Given the description of an element on the screen output the (x, y) to click on. 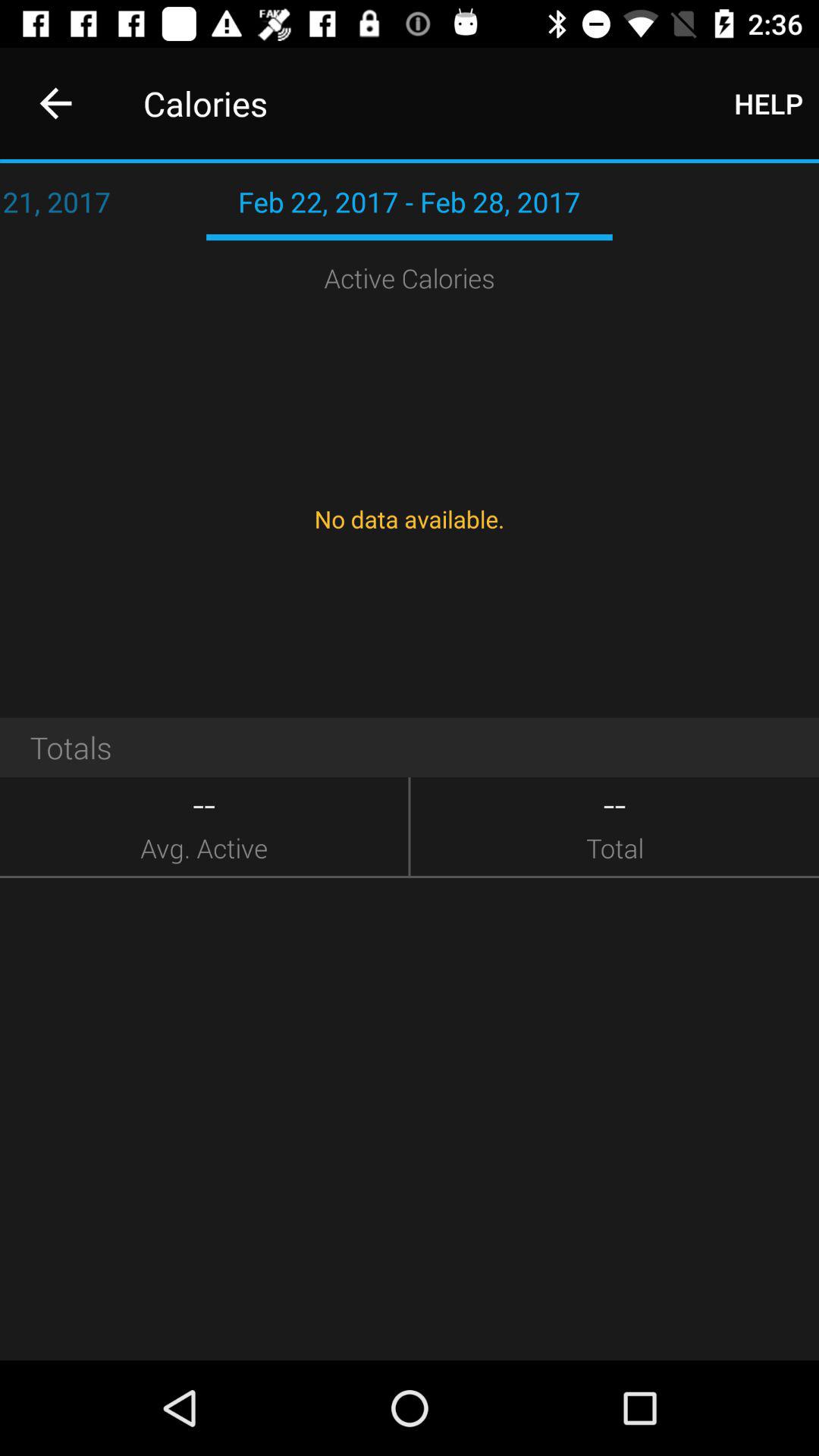
scroll to help item (768, 103)
